Given the description of an element on the screen output the (x, y) to click on. 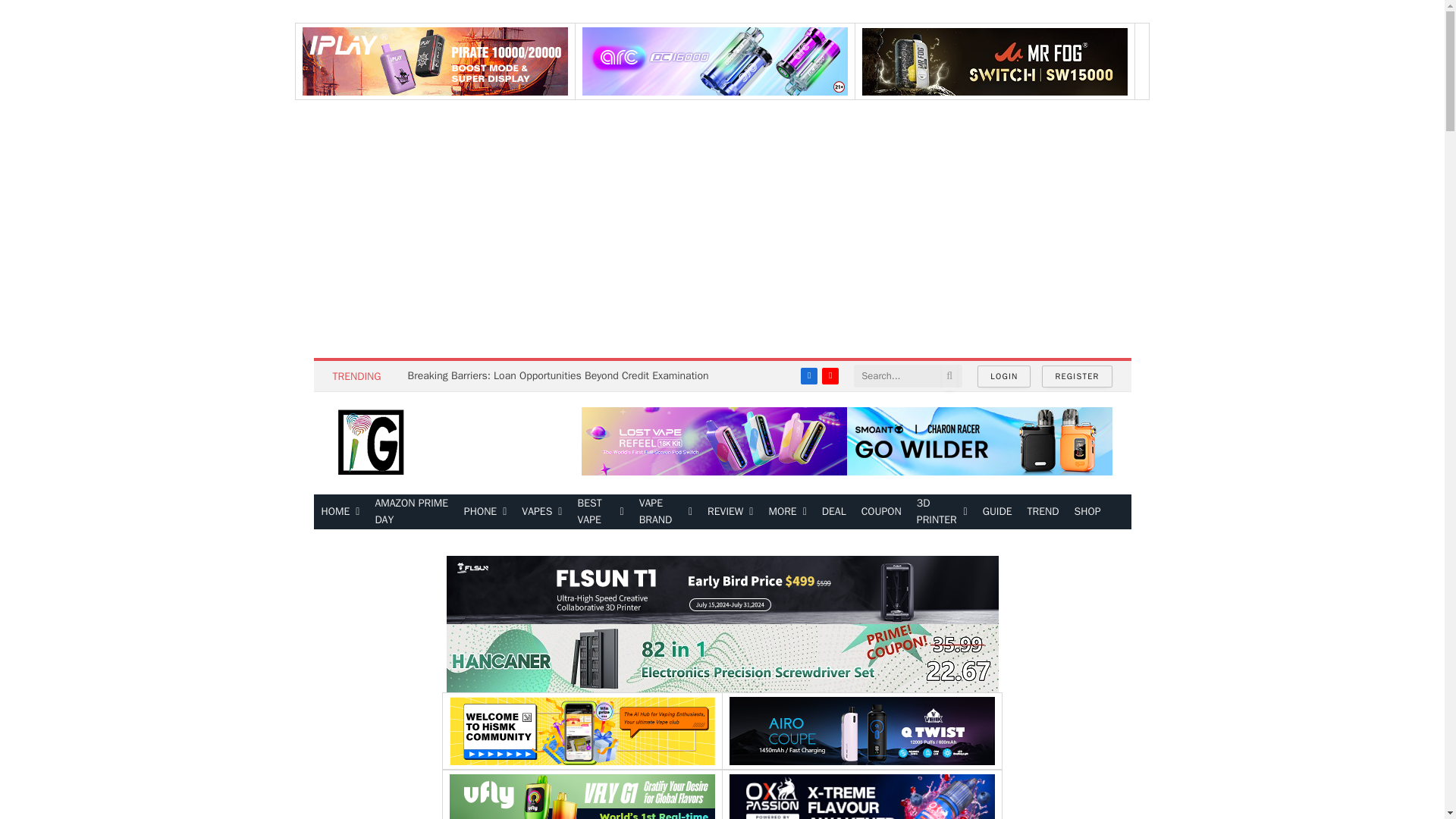
LOGIN (1003, 376)
YouTube (830, 375)
PHONE (485, 511)
Facebook (808, 375)
REGISTER (1077, 376)
HOME (341, 511)
AMAZON PRIME DAY (410, 511)
